Given the description of an element on the screen output the (x, y) to click on. 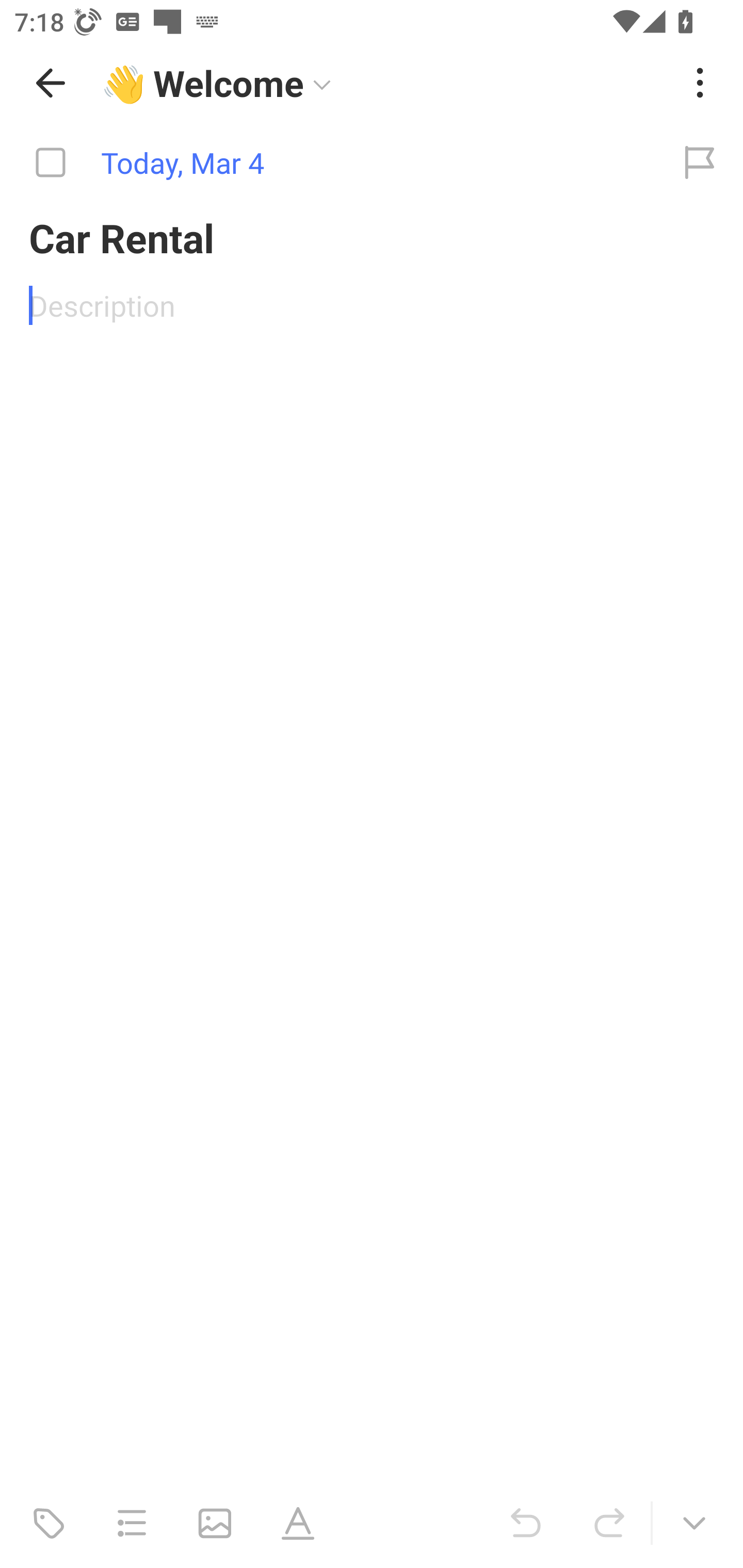
👋 Welcome (384, 82)
Today, Mar 4  (328, 163)
Car Rental (371, 237)
Description (371, 304)
